Given the description of an element on the screen output the (x, y) to click on. 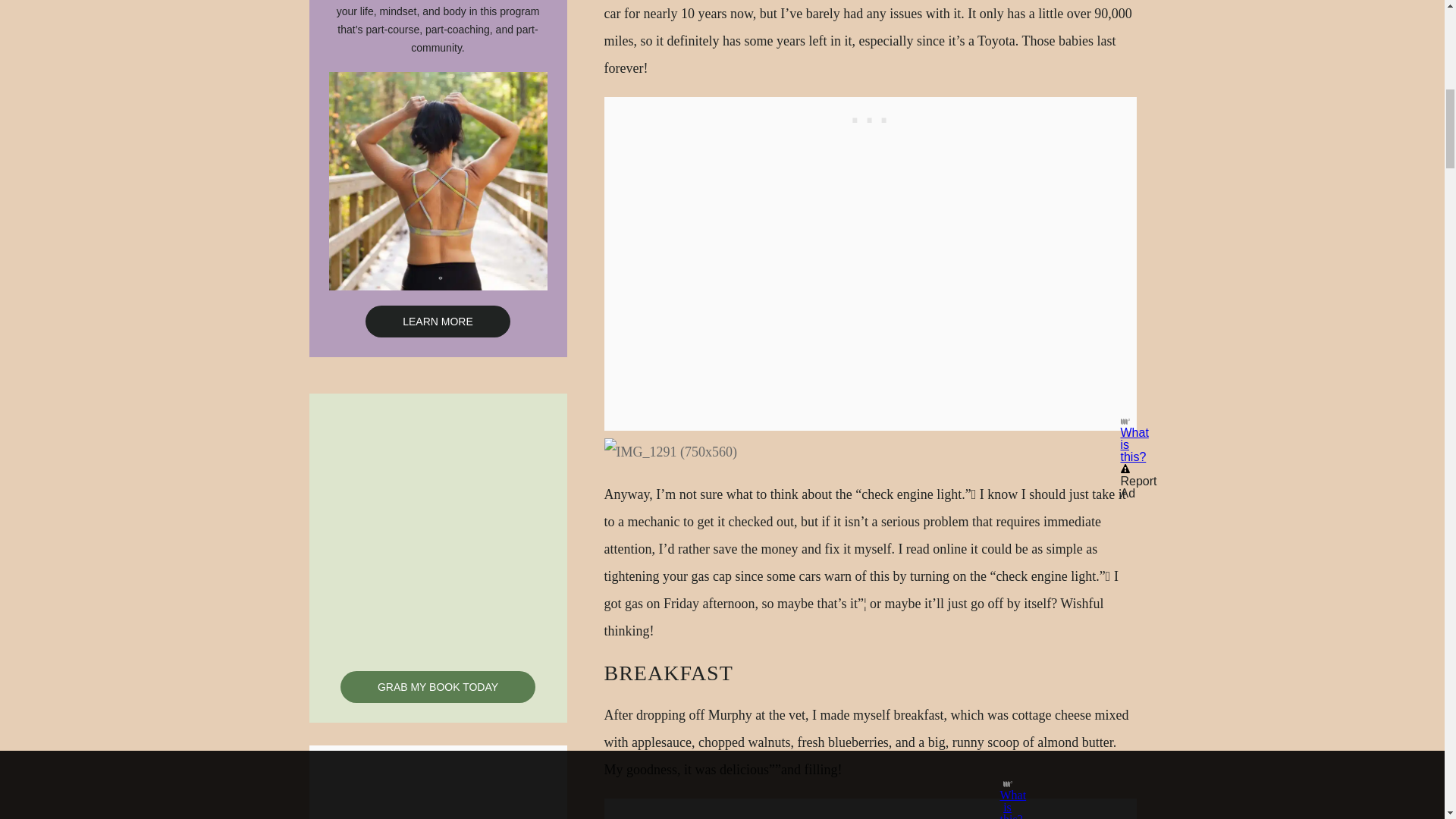
3rd party ad content (870, 116)
3rd party ad content (437, 800)
3rd party ad content (870, 808)
